Given the description of an element on the screen output the (x, y) to click on. 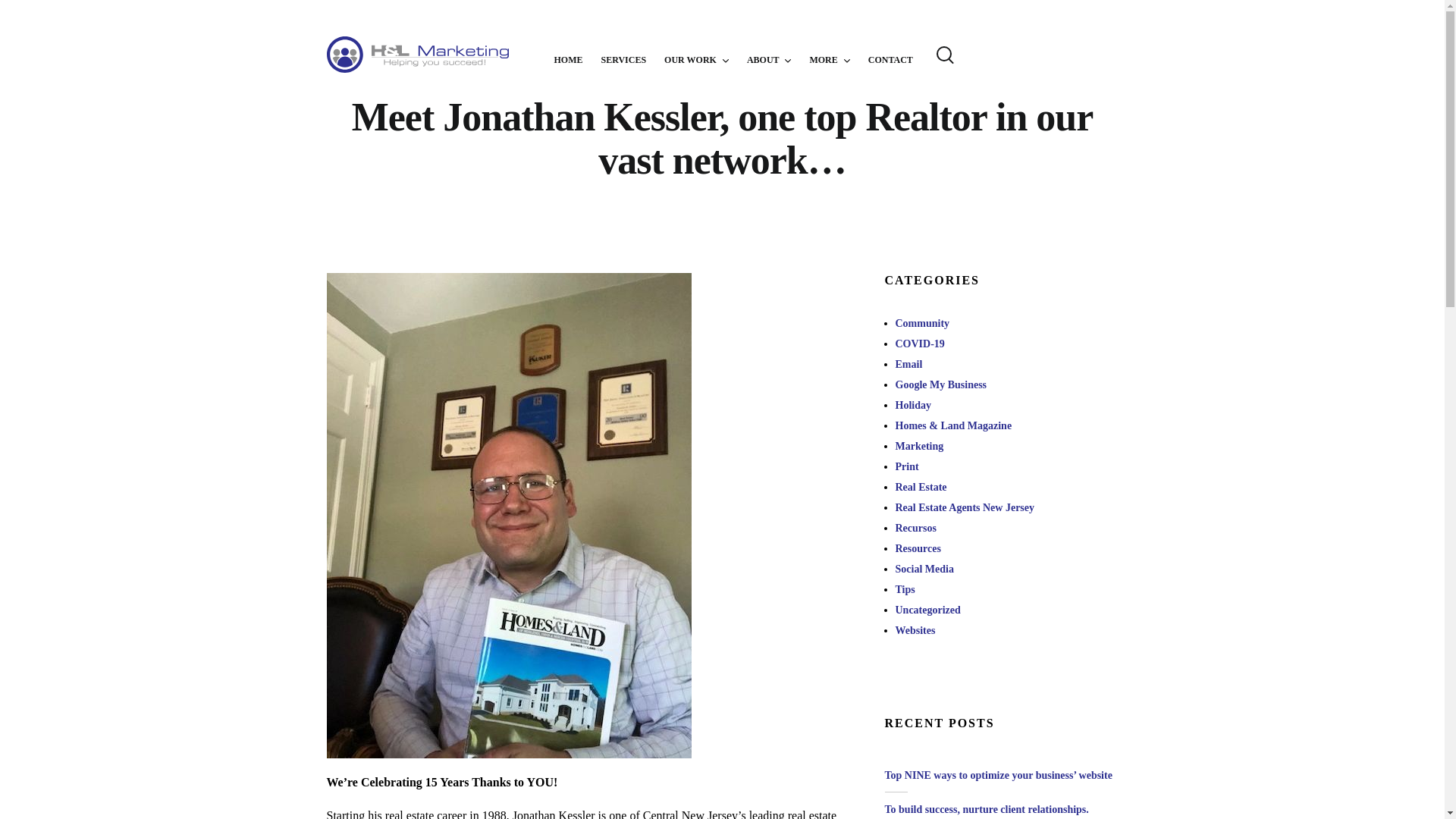
Search (8, 9)
HOME (567, 53)
CONTACT (889, 53)
ABOUT (768, 53)
HNL MARKETING (439, 54)
MORE (828, 53)
SERVICES (622, 53)
OUR WORK (696, 53)
